Given the description of an element on the screen output the (x, y) to click on. 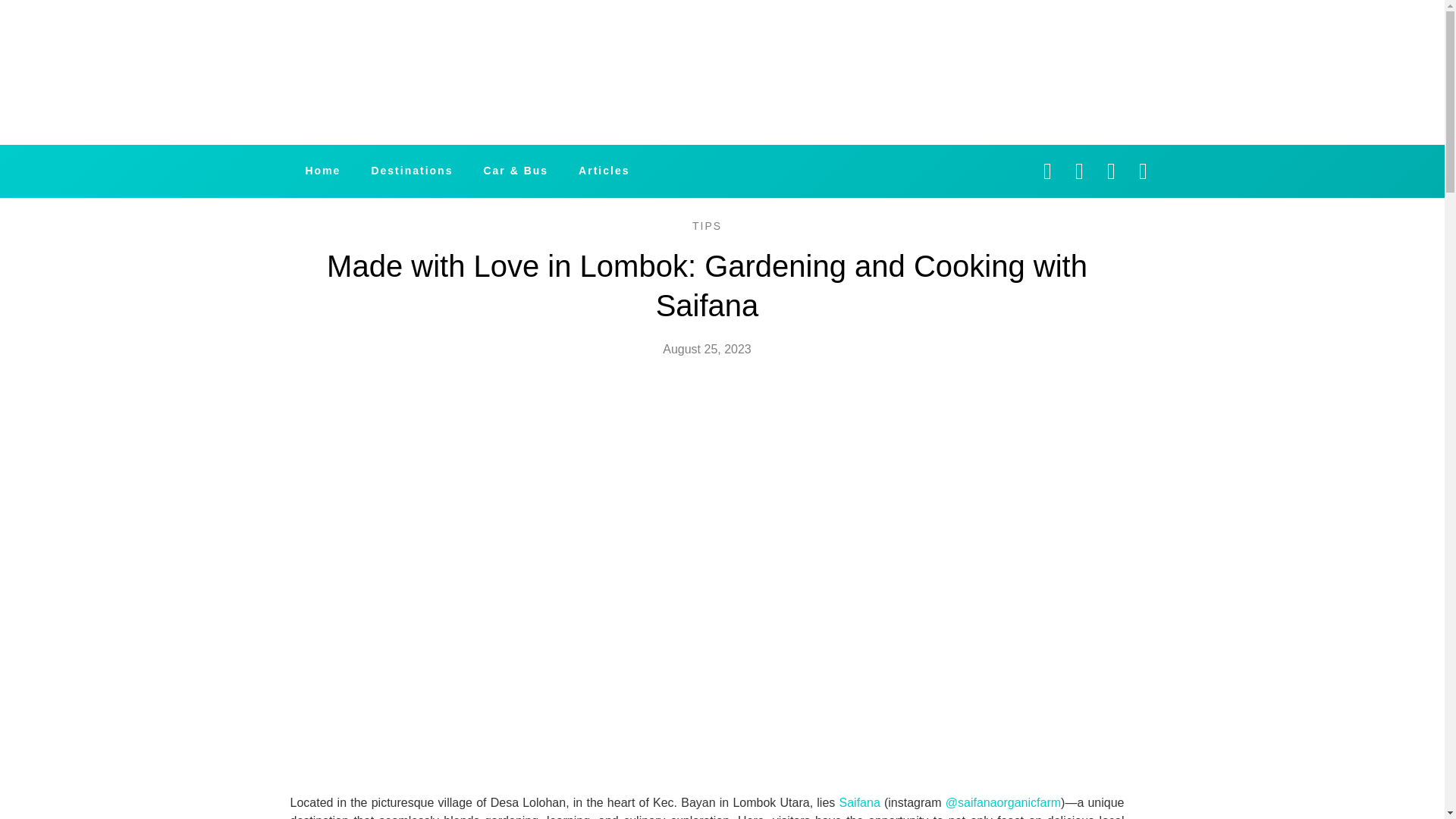
TIPS (707, 225)
Destinations (411, 170)
August 25, 2023 (706, 349)
Articles (604, 170)
Home (322, 170)
Saifana (860, 802)
